Given the description of an element on the screen output the (x, y) to click on. 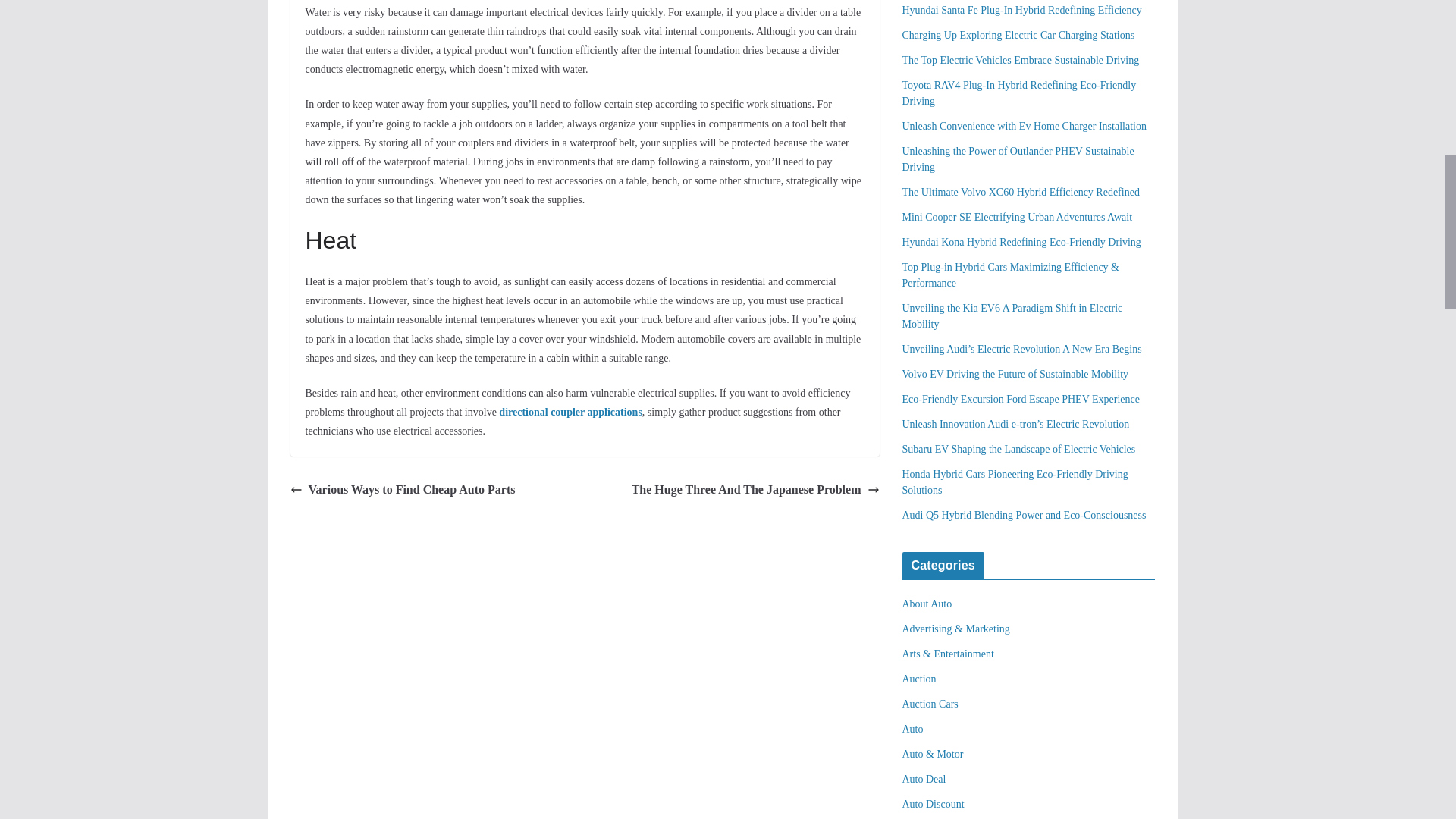
The Huge Three And The Japanese Problem (755, 490)
Various Ways to Find Cheap Auto Parts (402, 490)
directional coupler applications (570, 411)
